Given the description of an element on the screen output the (x, y) to click on. 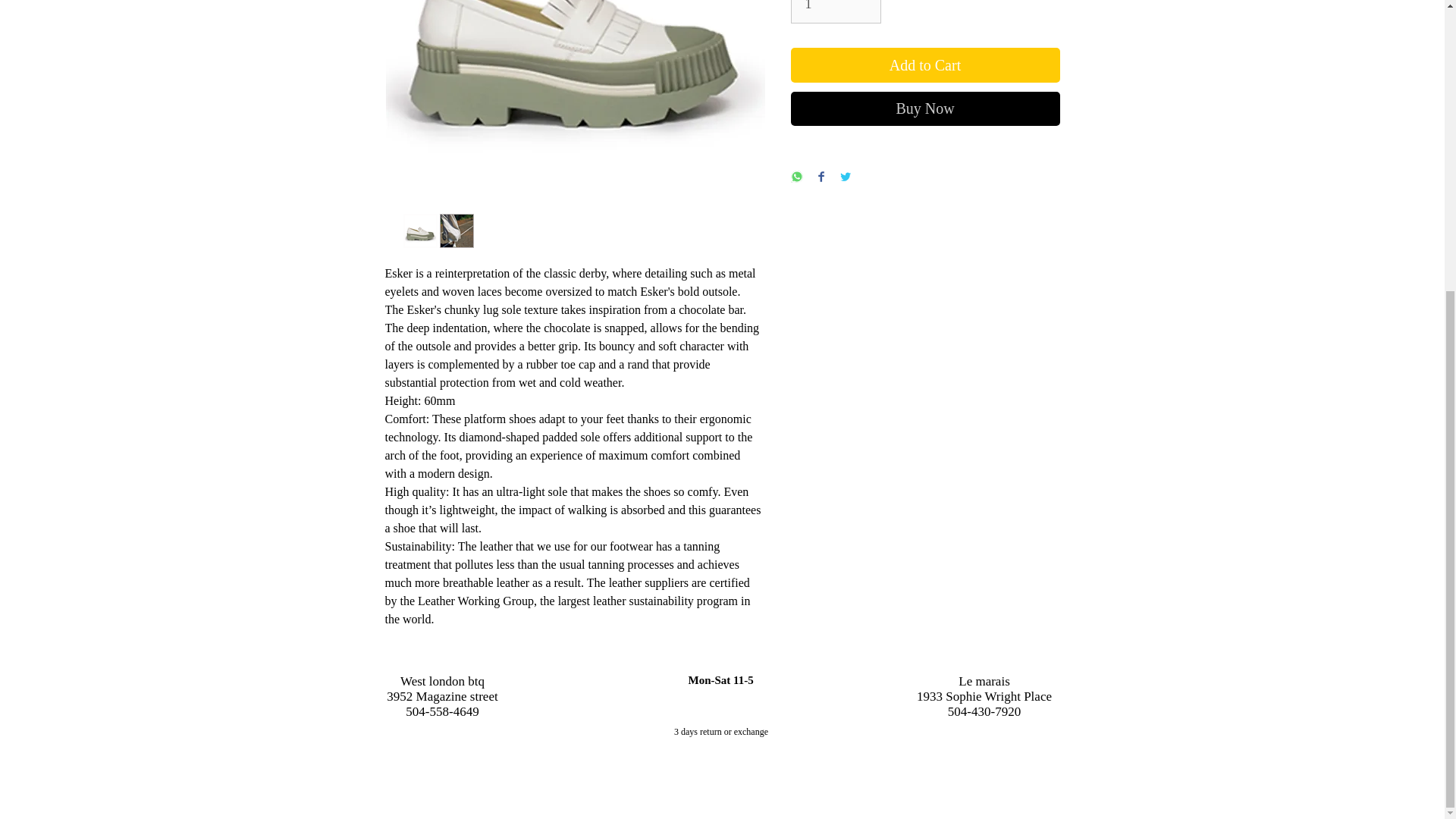
Buy Now (924, 108)
Add to Cart (924, 64)
1 (835, 11)
